Given the description of an element on the screen output the (x, y) to click on. 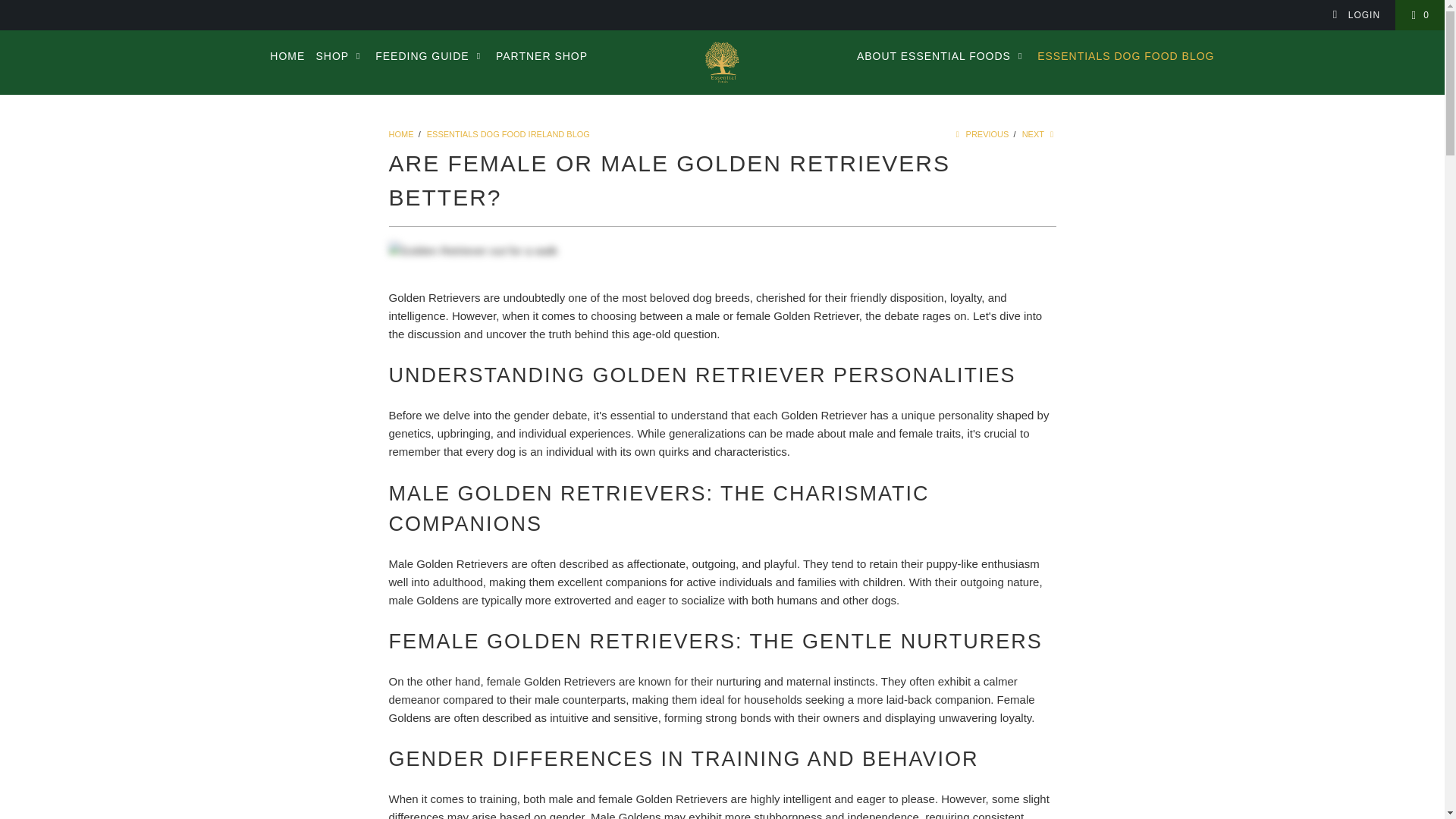
Essentialfoods.ie (400, 133)
Essentials Dog Food Ireland Blog (507, 133)
Essentialfoods.ie (722, 62)
My Account  (1355, 15)
